Given the description of an element on the screen output the (x, y) to click on. 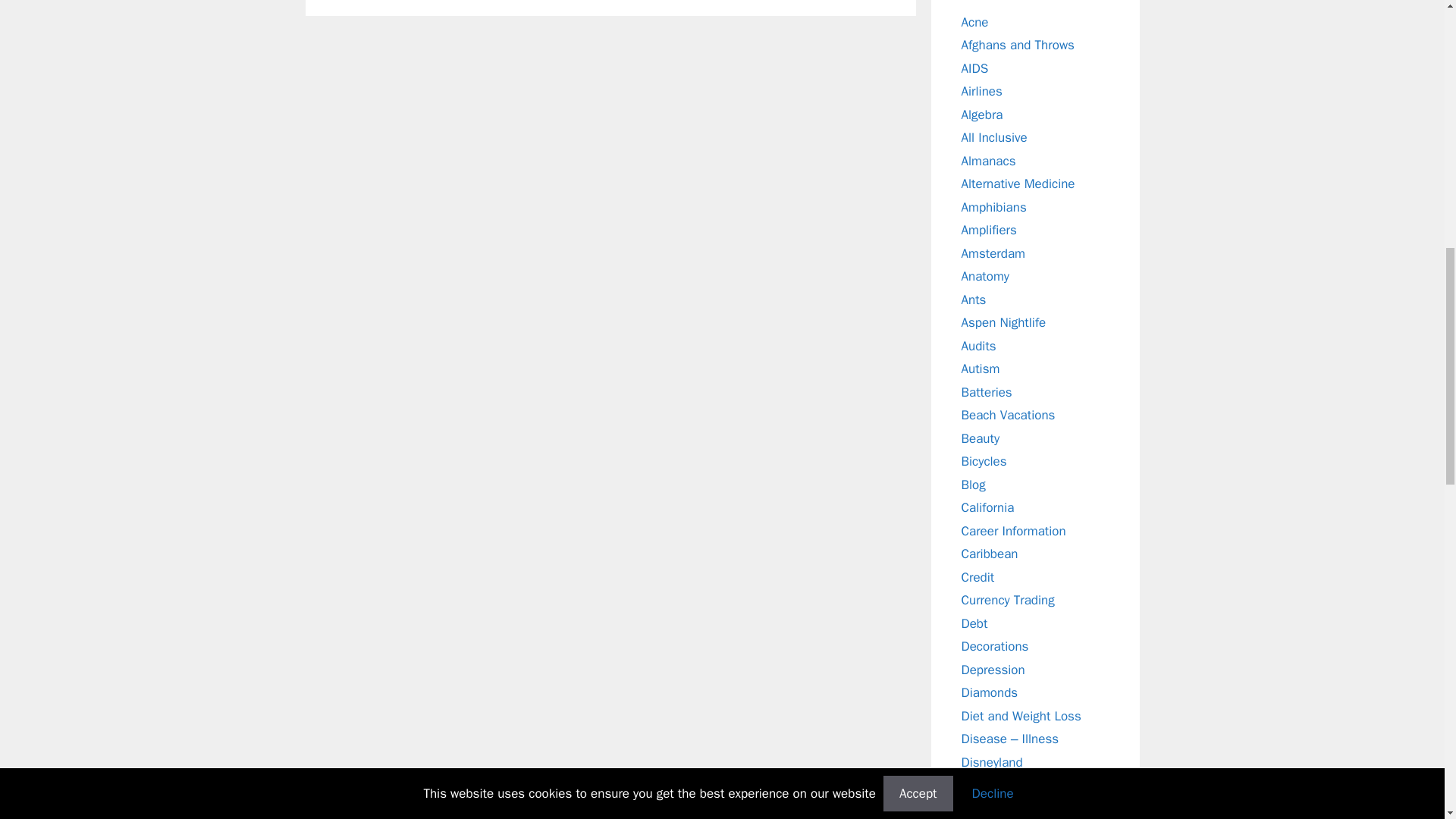
Algebra (981, 114)
Almanacs (988, 160)
All Inclusive (993, 137)
Airlines (981, 91)
Ants (973, 299)
Amplifiers (988, 229)
Aspen Nightlife (1003, 322)
Amsterdam (993, 253)
Amphibians (993, 206)
Acne (974, 21)
Autism (980, 368)
AIDS (974, 68)
Batteries (985, 391)
Alternative Medicine (1017, 183)
Beach Vacations (1007, 415)
